Given the description of an element on the screen output the (x, y) to click on. 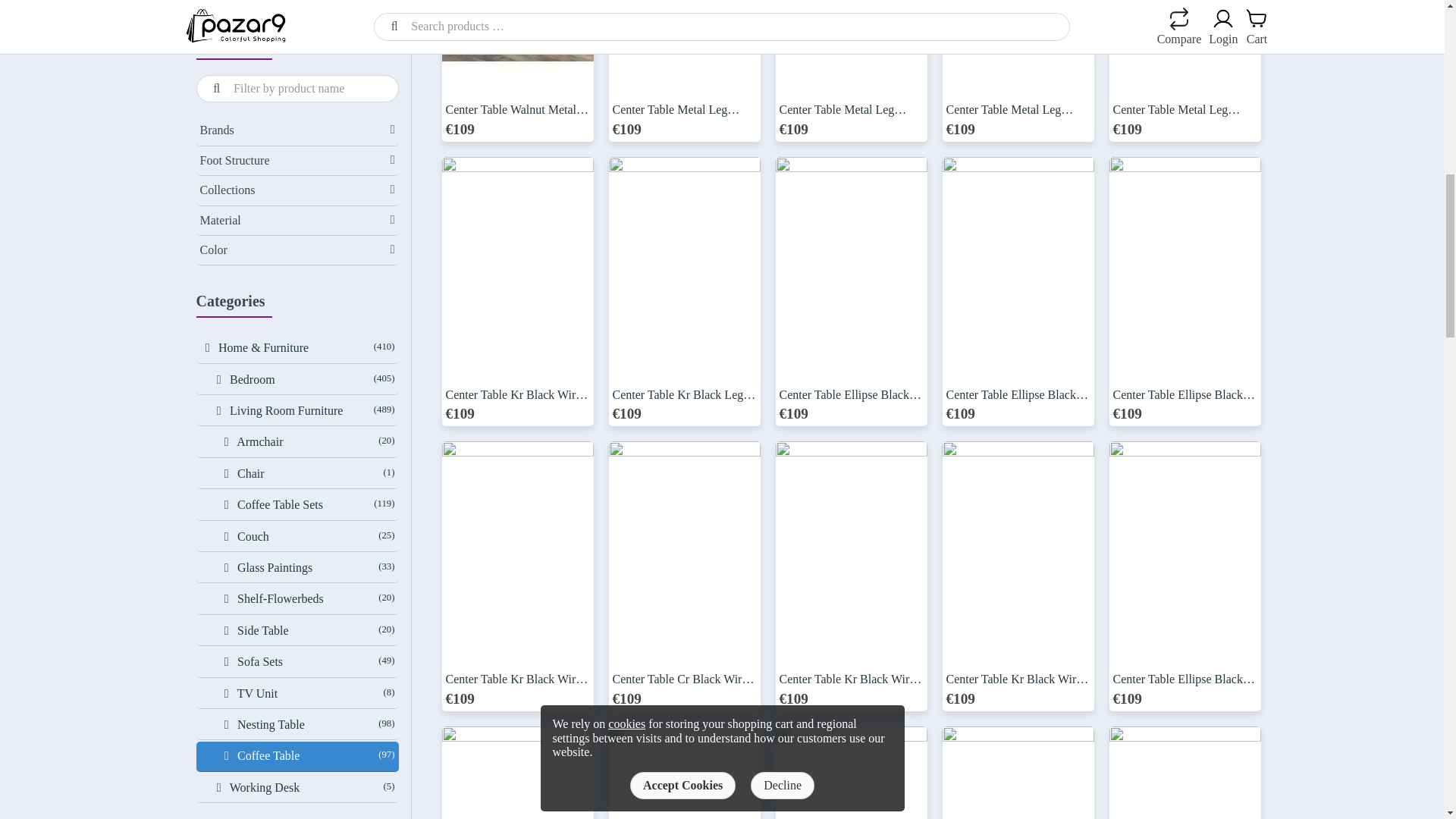
Center Table Metal Leg Ellipse Cream (1184, 70)
Center Table Metal Leg Ellipse Black Marble Pattern (684, 70)
Center Table Metal Leg Ellipse Walnut (1017, 70)
Center Table Metal Leg Ellipse White (850, 70)
Center Table Walnut Metal Leg Kr (516, 70)
